Given the description of an element on the screen output the (x, y) to click on. 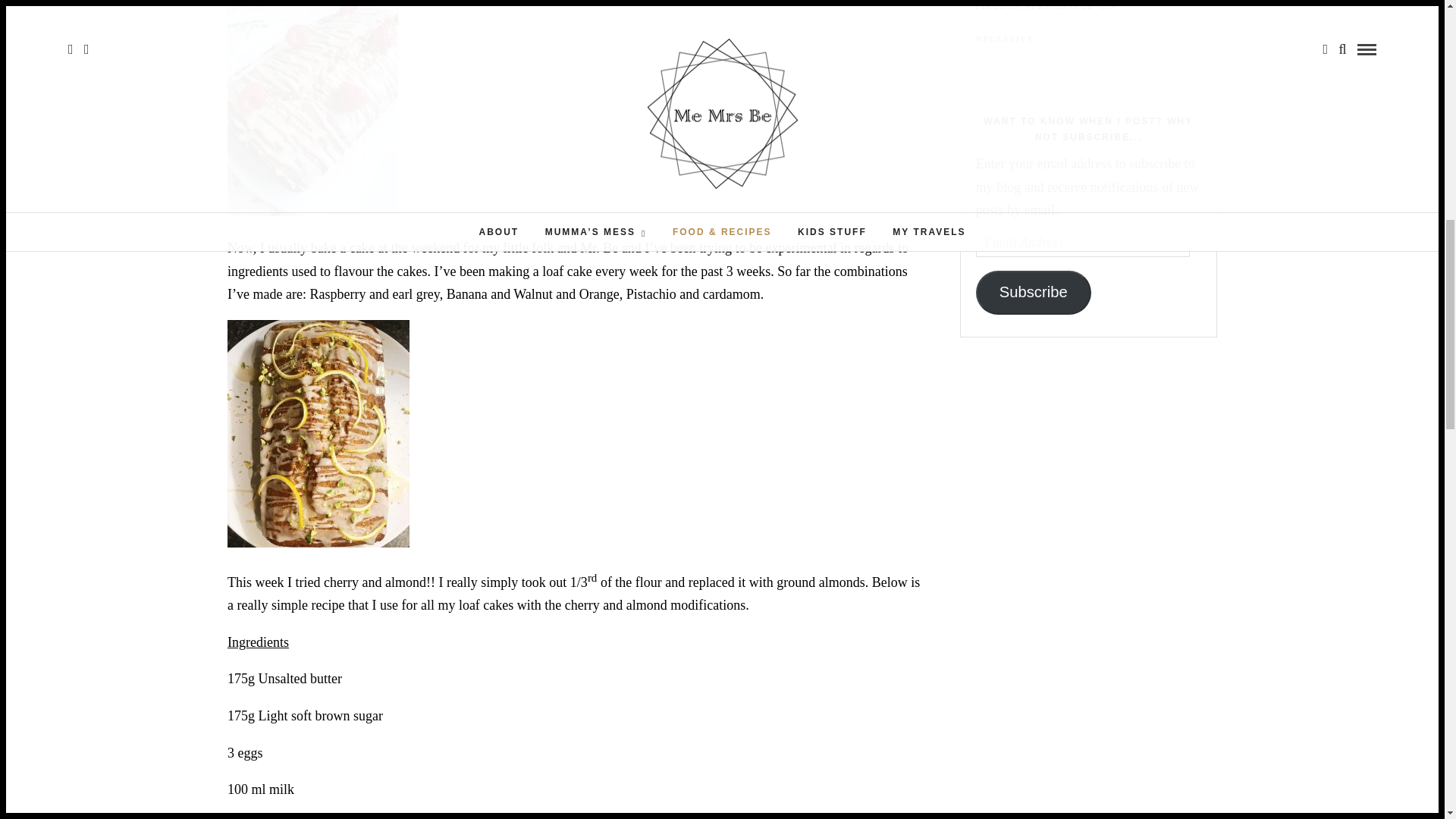
Subscribe (1032, 292)
FIREBOX SPREADABLE GIN (1088, 6)
NECESSITY (1088, 39)
